Given the description of an element on the screen output the (x, y) to click on. 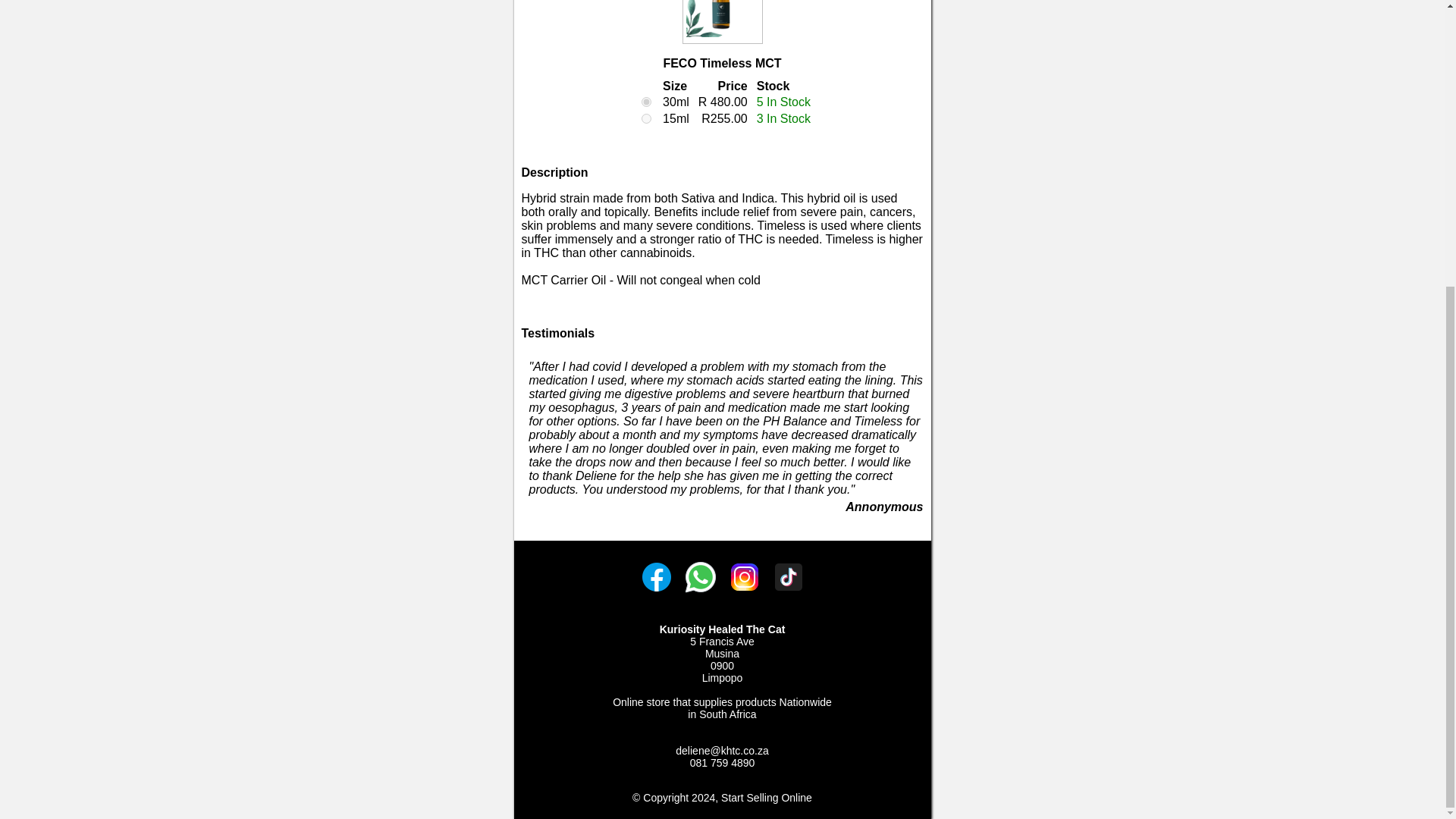
FECO Timeless MCT - 15ml, 255 (646, 118)
Start Selling Online (766, 797)
FECO Timeless MCT - 30ml, 480 (646, 102)
